Given the description of an element on the screen output the (x, y) to click on. 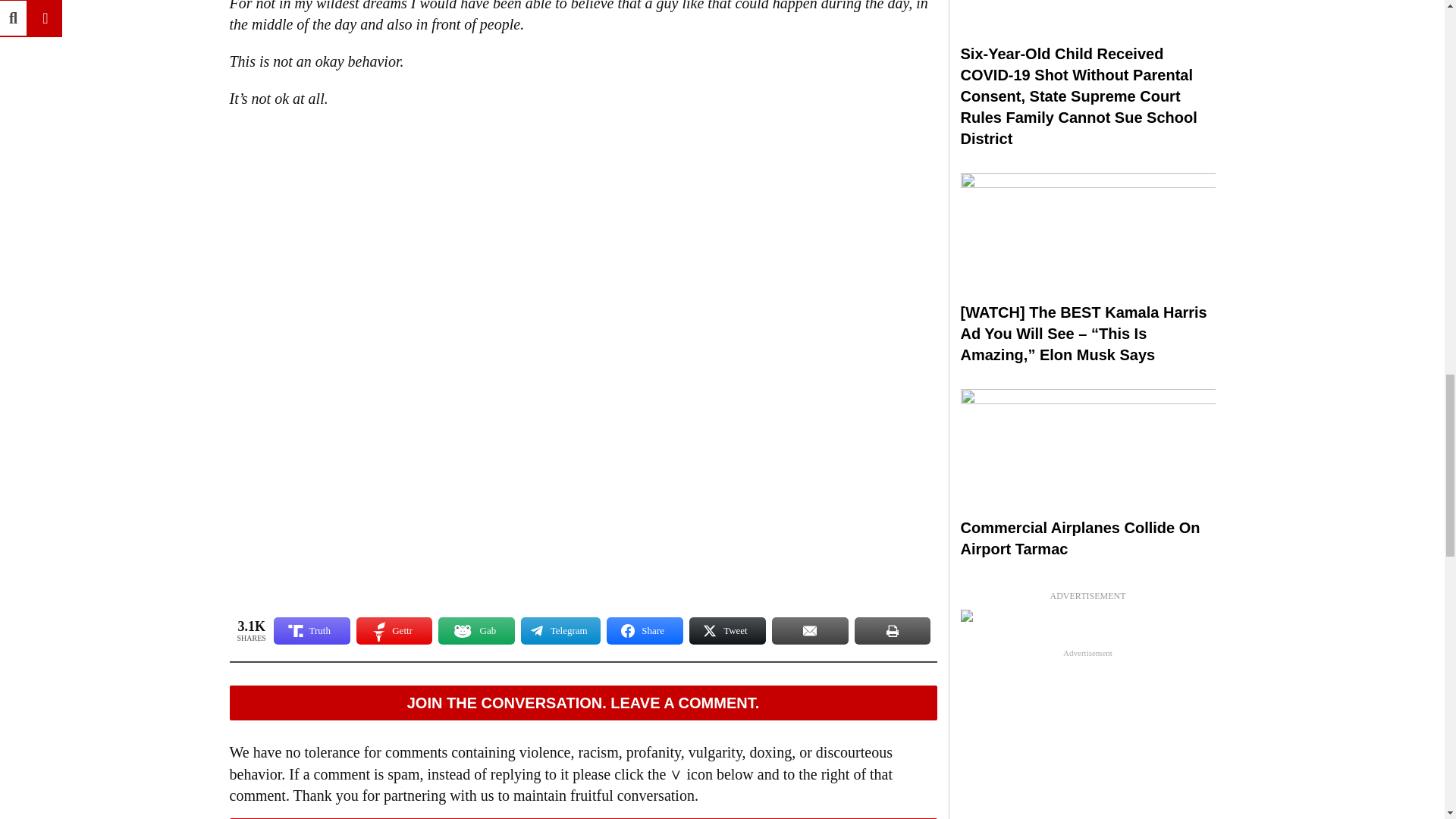
Share on Tweet (726, 630)
Share on Gab (476, 630)
Share on Gettr (394, 630)
Truth (311, 630)
Share on Telegram (560, 630)
Share on Share (644, 630)
Share on Truth (311, 630)
